Given the description of an element on the screen output the (x, y) to click on. 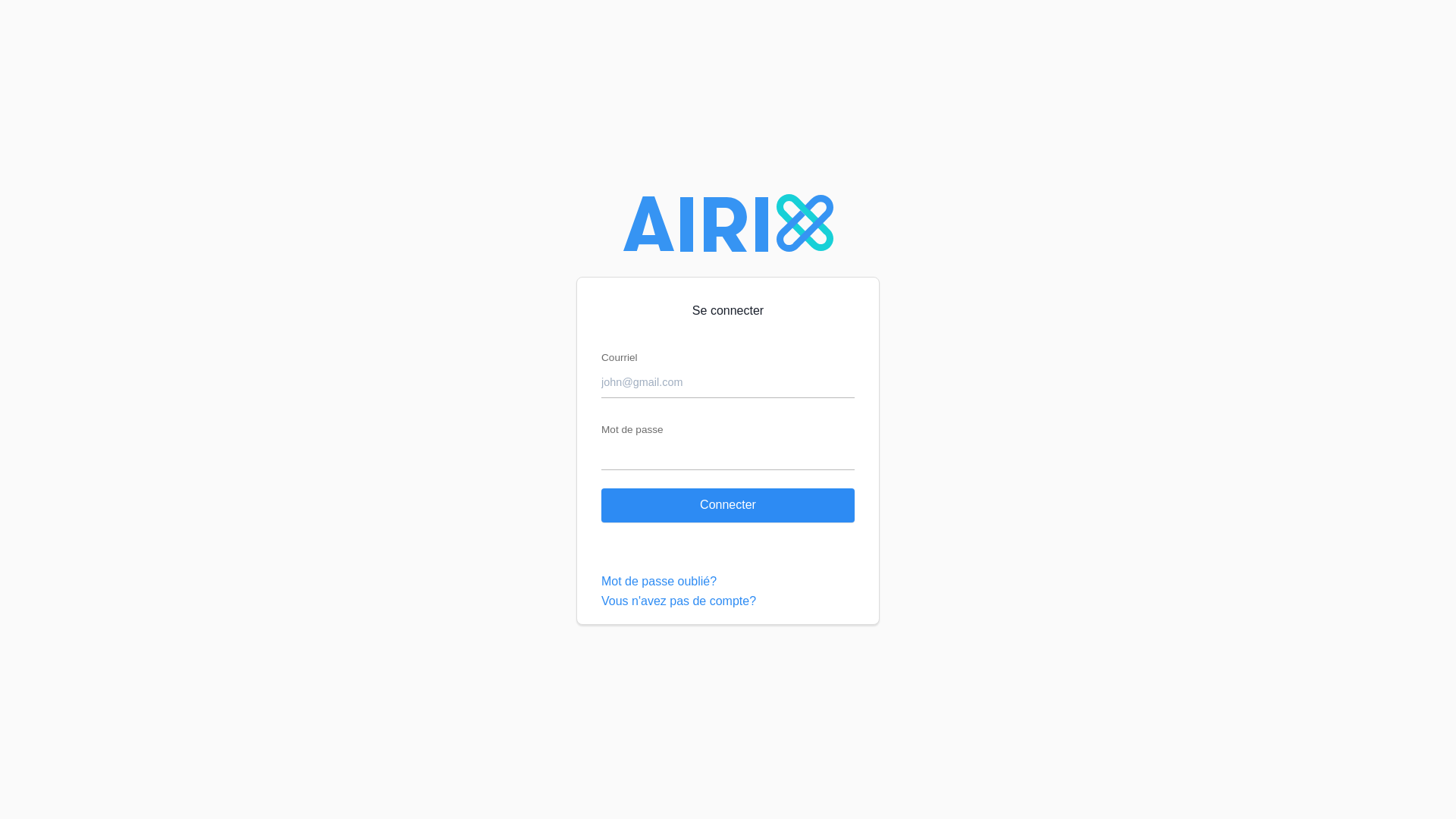
Vous n'avez pas de compte? Element type: text (727, 601)
Connecter Element type: text (727, 505)
